Given the description of an element on the screen output the (x, y) to click on. 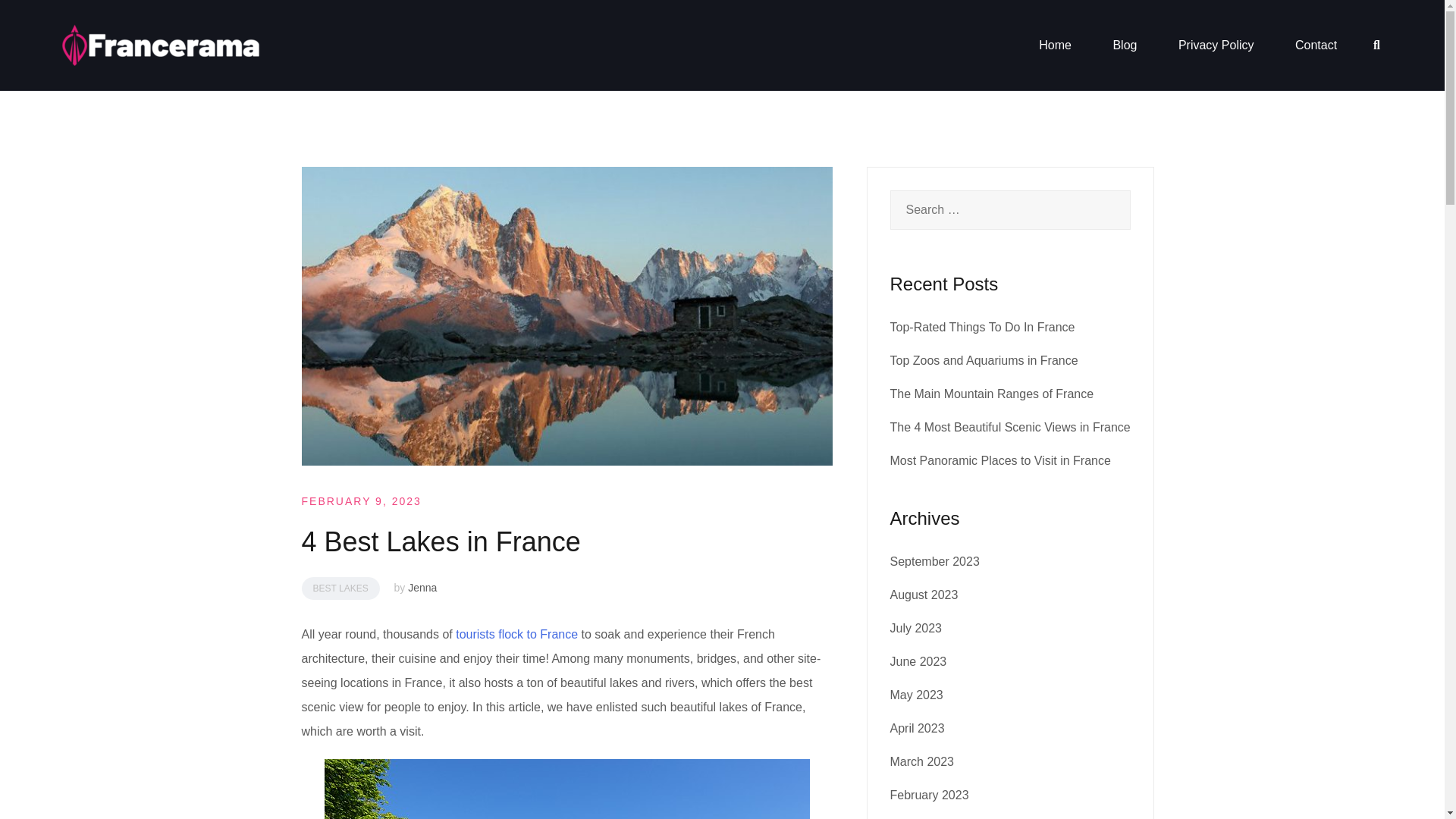
The 4 Most Beautiful Scenic Views in France (1010, 427)
Search (47, 19)
Privacy Policy (1215, 45)
June 2023 (918, 661)
FEBRUARY 9, 2023 (361, 500)
April 2023 (916, 727)
August 2023 (923, 594)
May 2023 (916, 694)
Most Panoramic Places to Visit in France (999, 460)
Jenna (421, 587)
